Given the description of an element on the screen output the (x, y) to click on. 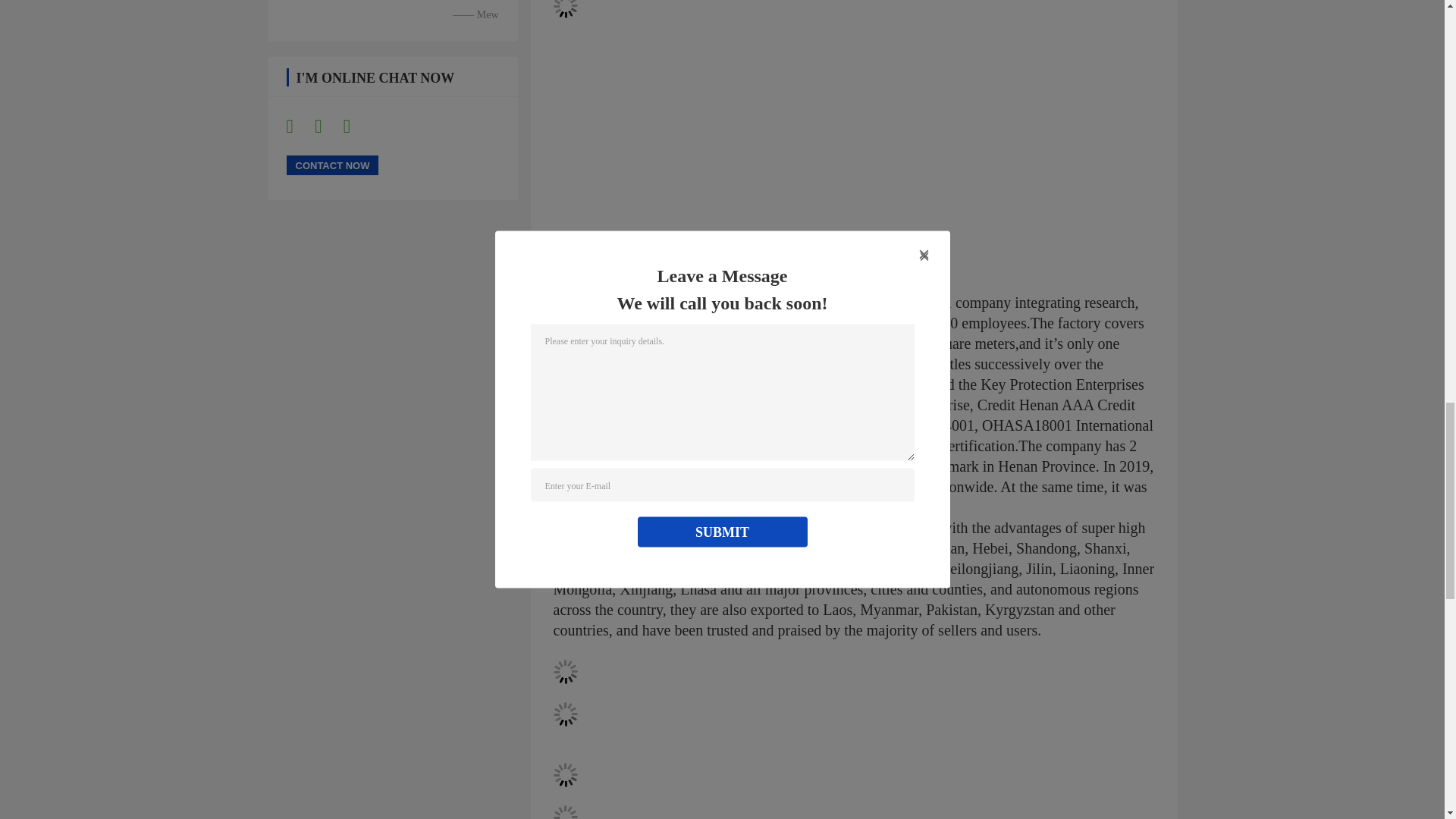
Contact Now (332, 165)
